Given the description of an element on the screen output the (x, y) to click on. 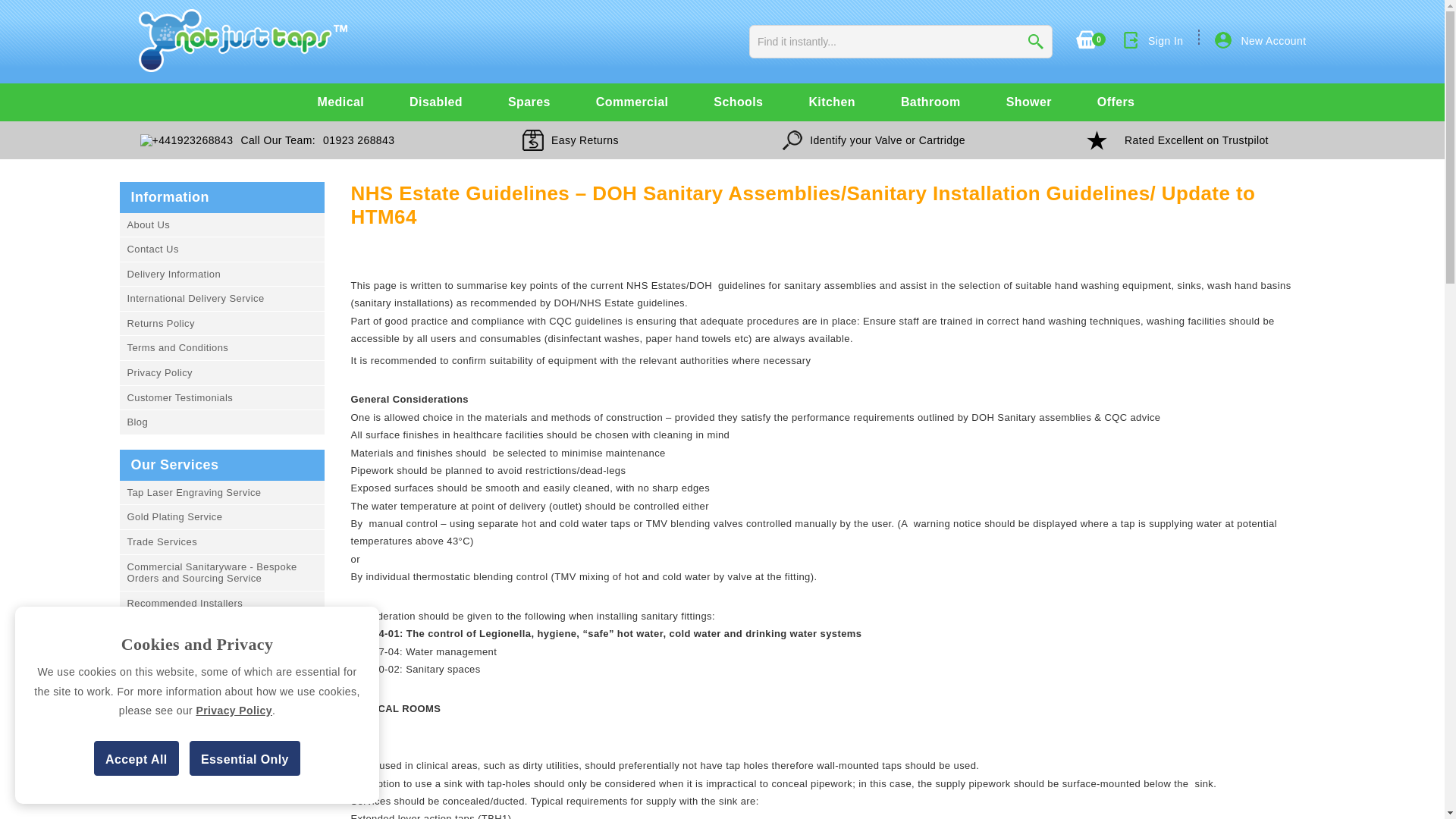
0 (1086, 47)
Medical (341, 102)
Go (1035, 41)
Go (1035, 41)
Spares (529, 102)
New Account (1273, 40)
Go (1035, 41)
Sign In (1165, 40)
